Given the description of an element on the screen output the (x, y) to click on. 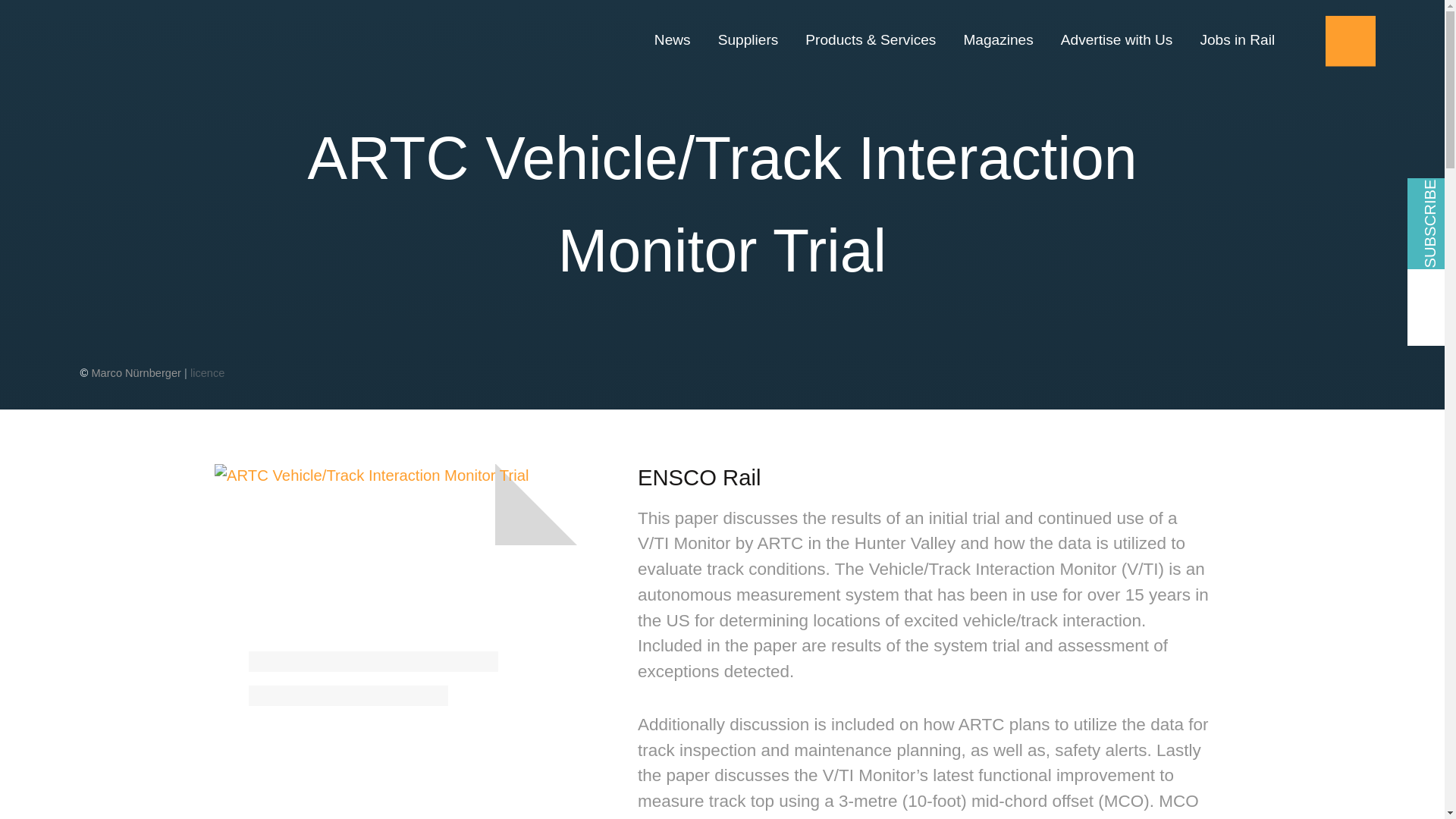
Go back to the homepage (171, 39)
Jobs in Rail (1230, 40)
licence (207, 372)
Advertise with Us (1116, 40)
Magazines (997, 40)
Search (1299, 40)
Suppliers (748, 40)
News (678, 40)
Menu (1349, 40)
